Given the description of an element on the screen output the (x, y) to click on. 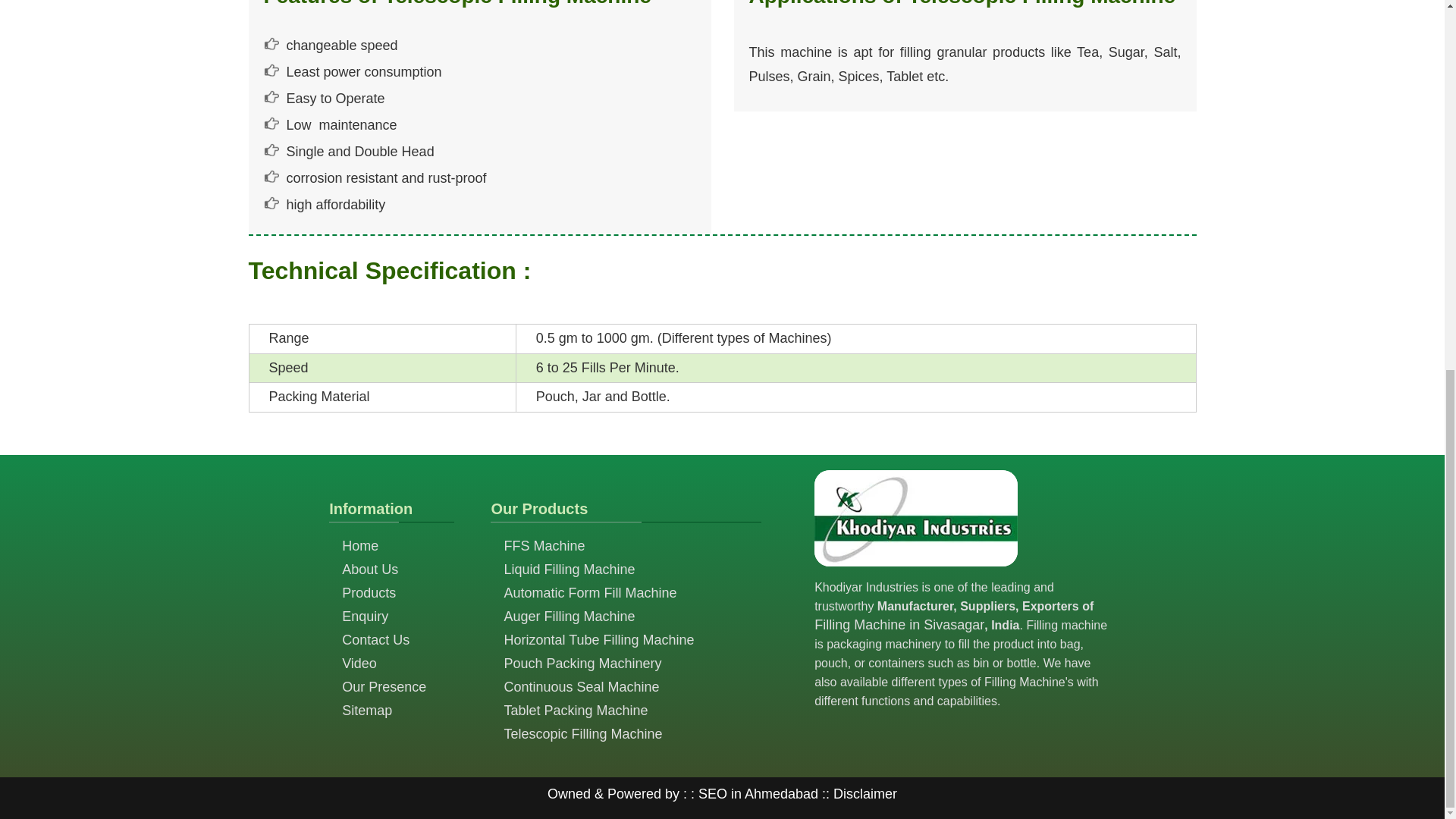
Video (359, 663)
Filling Machine in Sivasagar (898, 624)
Sitemap (366, 710)
Home (360, 545)
Horizontal Tube Filling Machine (598, 639)
:: Disclaimer (857, 793)
Automatic Form Fill Machine (590, 592)
Auger Filling Machine (568, 616)
Continuous Seal Machine (581, 686)
Enquiry (365, 616)
Contact Us (375, 639)
Tablet Packing Machine (575, 710)
Our Presence (384, 686)
Liquid Filling Machine (568, 569)
FFS Machine (544, 545)
